Given the description of an element on the screen output the (x, y) to click on. 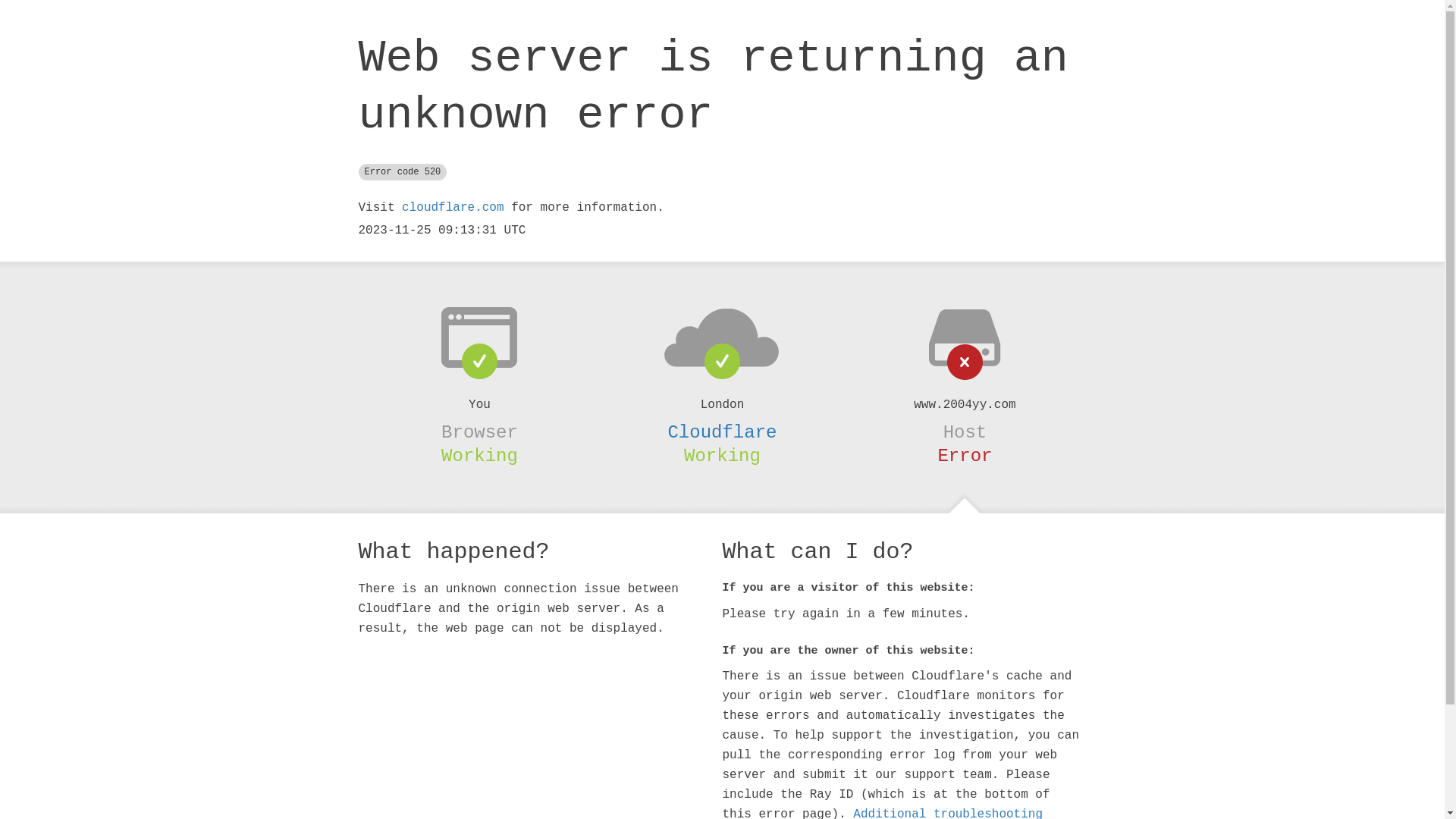
cloudflare.com Element type: text (452, 207)
Cloudflare Element type: text (721, 432)
